Given the description of an element on the screen output the (x, y) to click on. 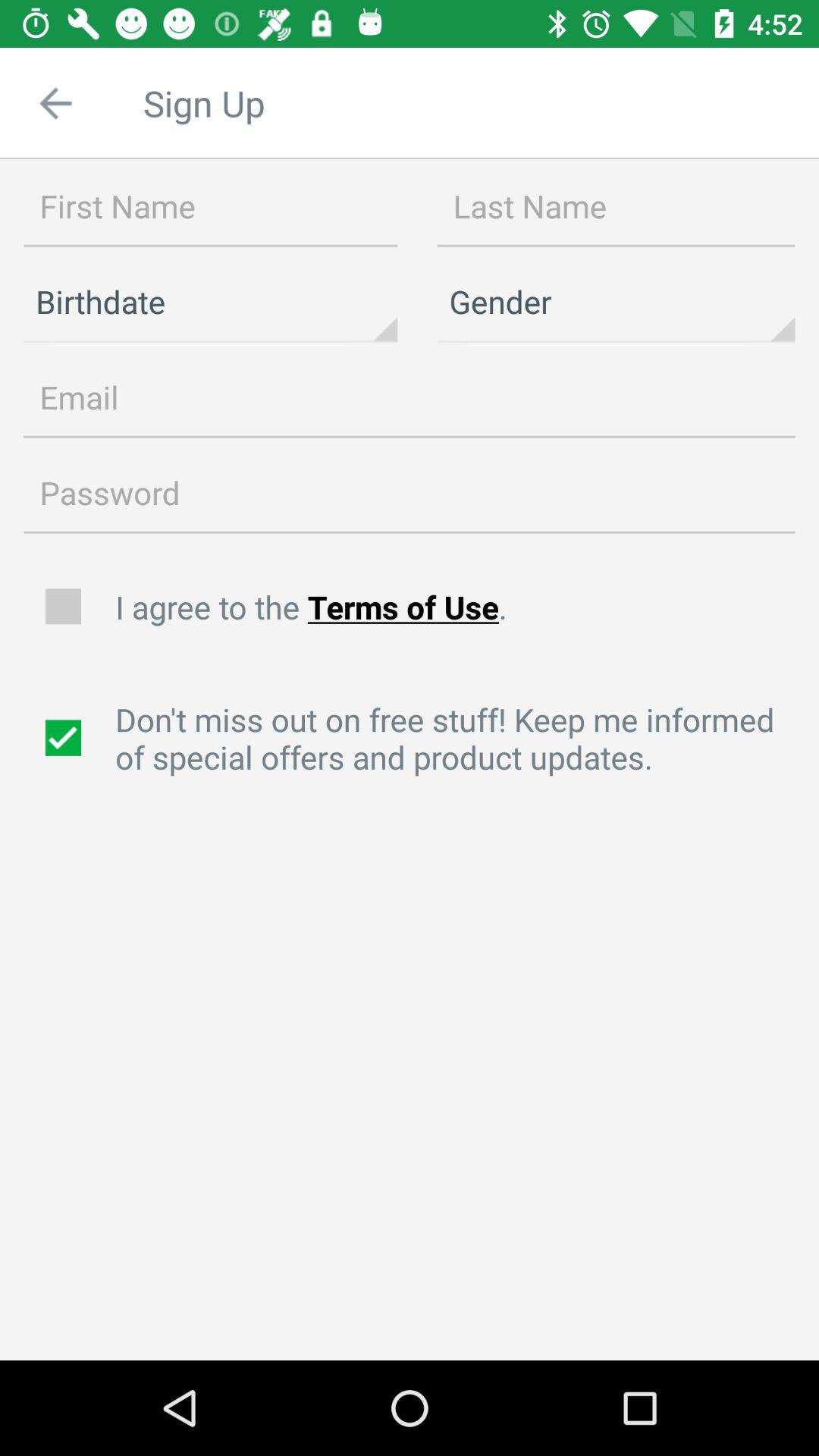
email line (409, 397)
